Given the description of an element on the screen output the (x, y) to click on. 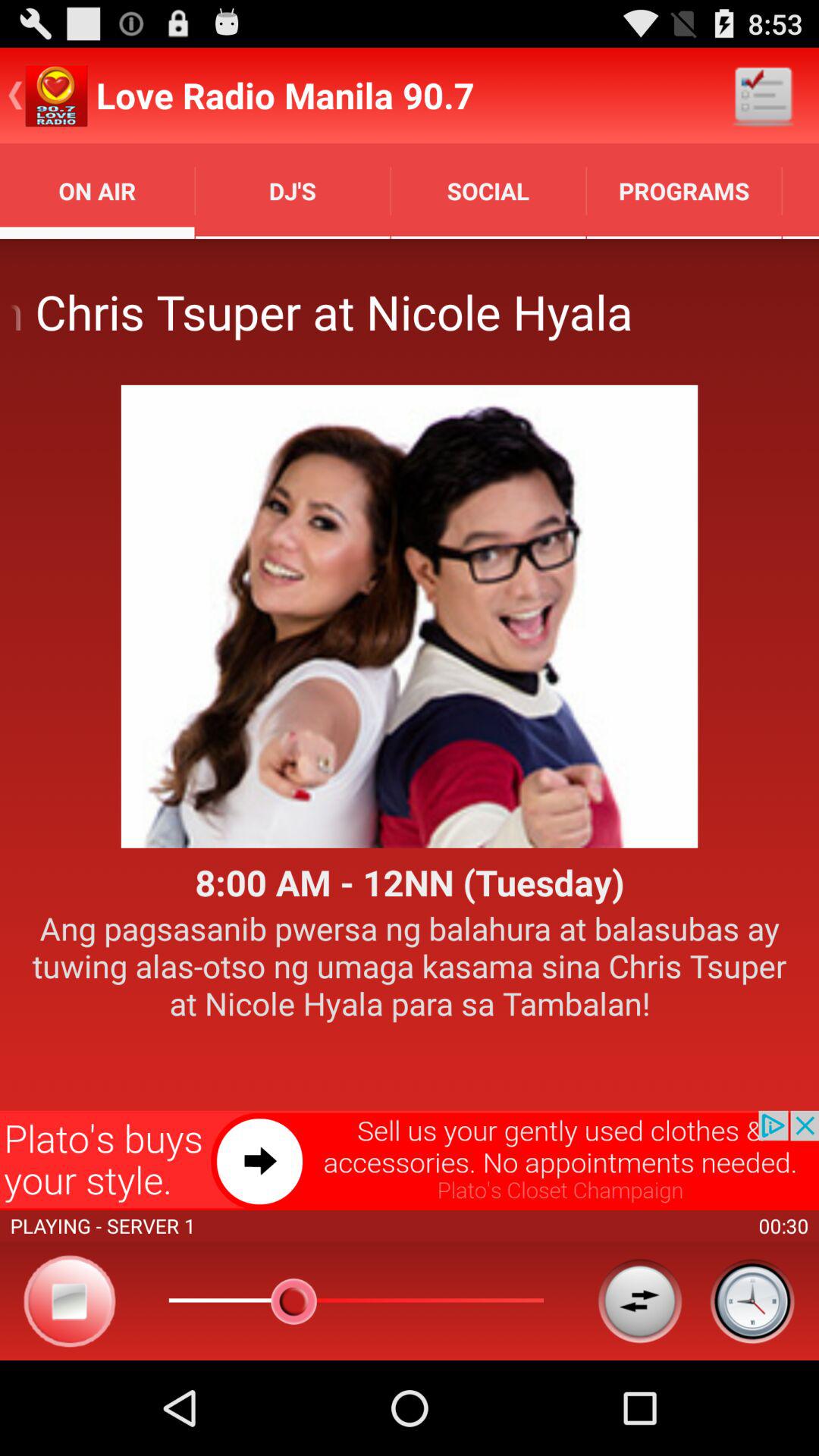
click on the icon on the bottom left corner (69, 1301)
click on the djs option (292, 190)
click on the icon bottom right corner (751, 1301)
